Given the description of an element on the screen output the (x, y) to click on. 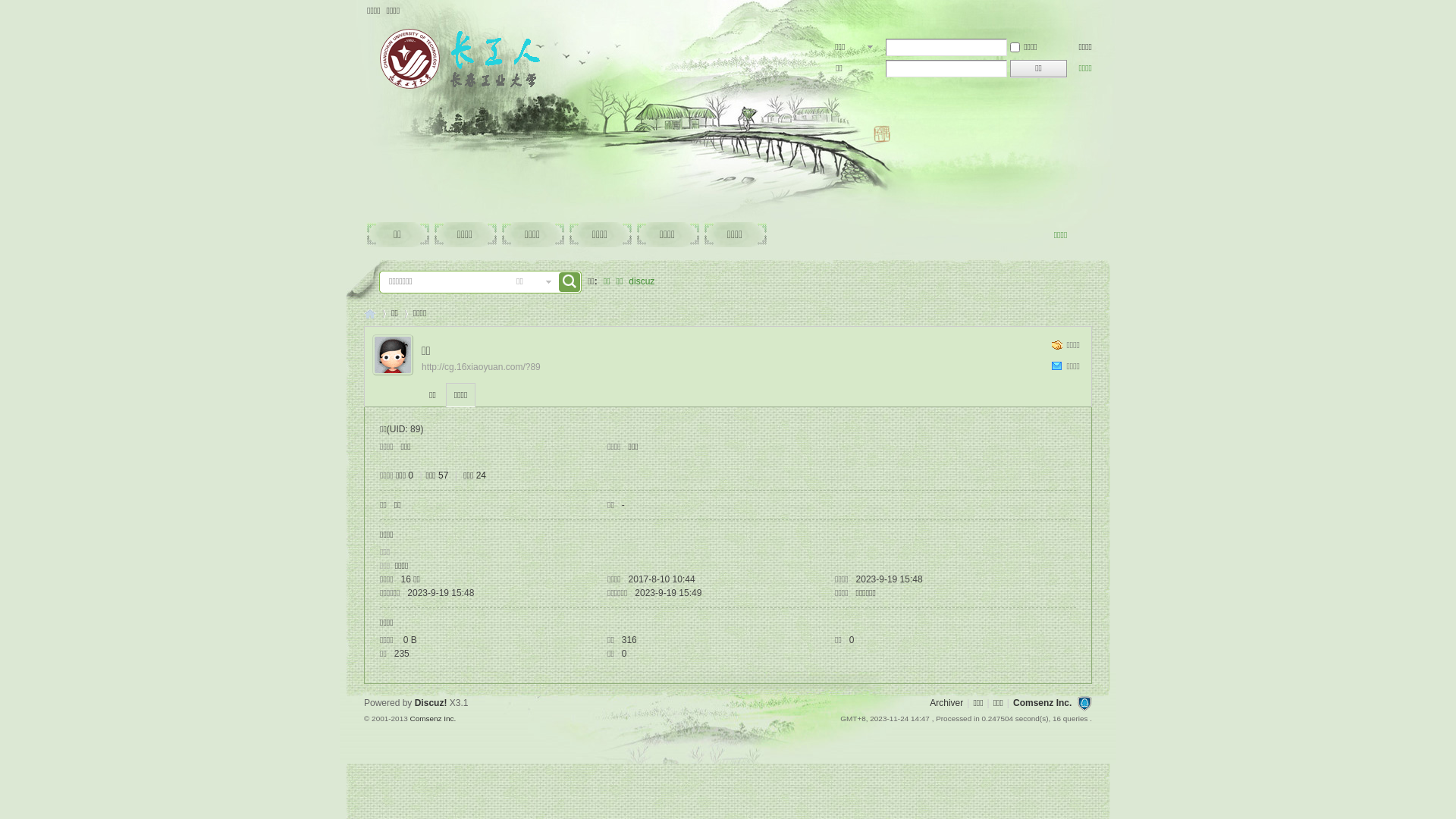
Discuz! Element type: text (430, 702)
Archiver Element type: text (946, 702)
discuz Element type: text (641, 281)
Inc. Element type: text (449, 718)
Comsenz Inc. Element type: text (1042, 702)
http://cg.16xiaoyuan.com/?89 Element type: text (480, 366)
true Element type: text (568, 281)
Comsenz Element type: text (426, 718)
